Given the description of an element on the screen output the (x, y) to click on. 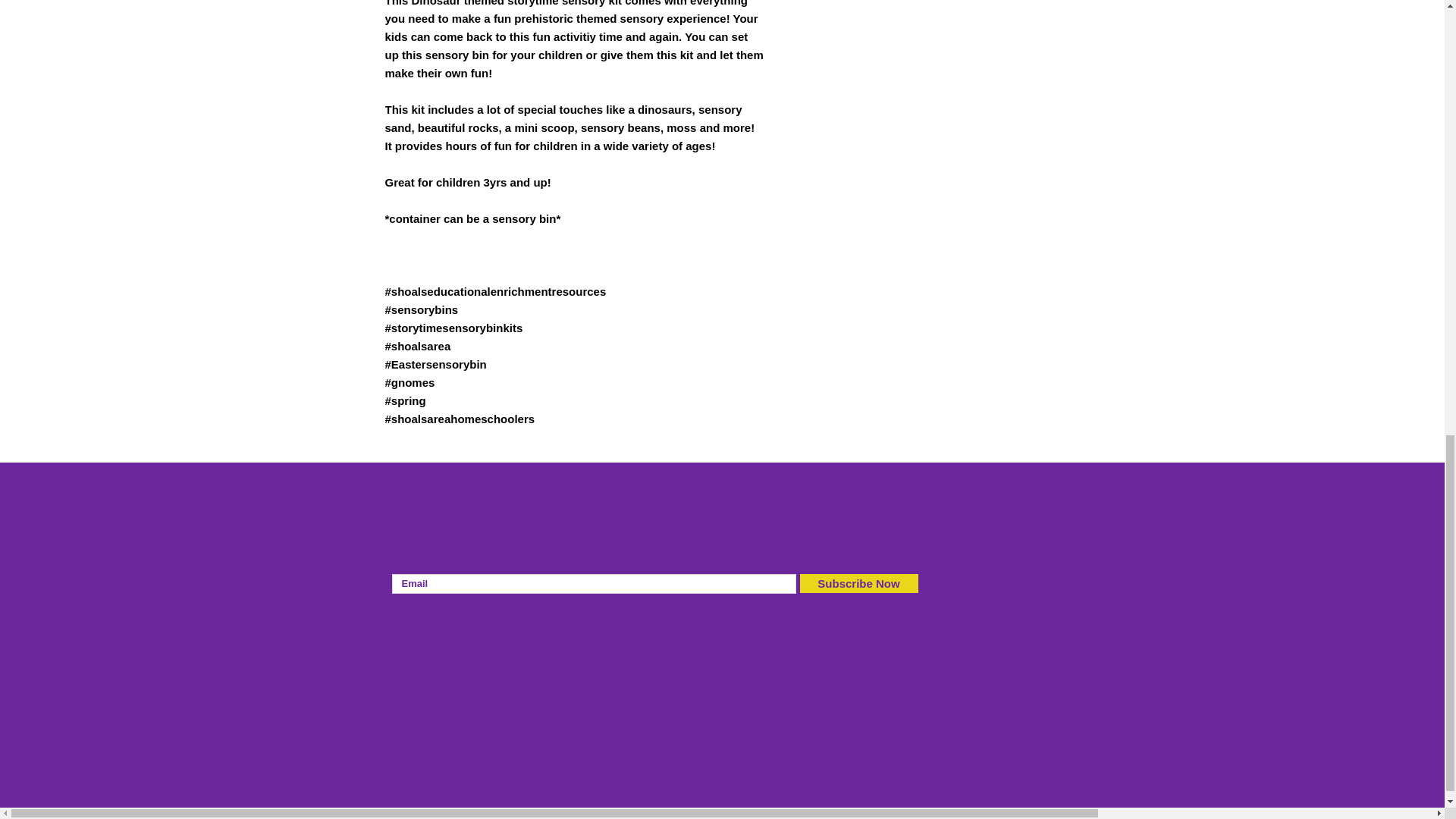
Subscribe Now (858, 583)
